Given the description of an element on the screen output the (x, y) to click on. 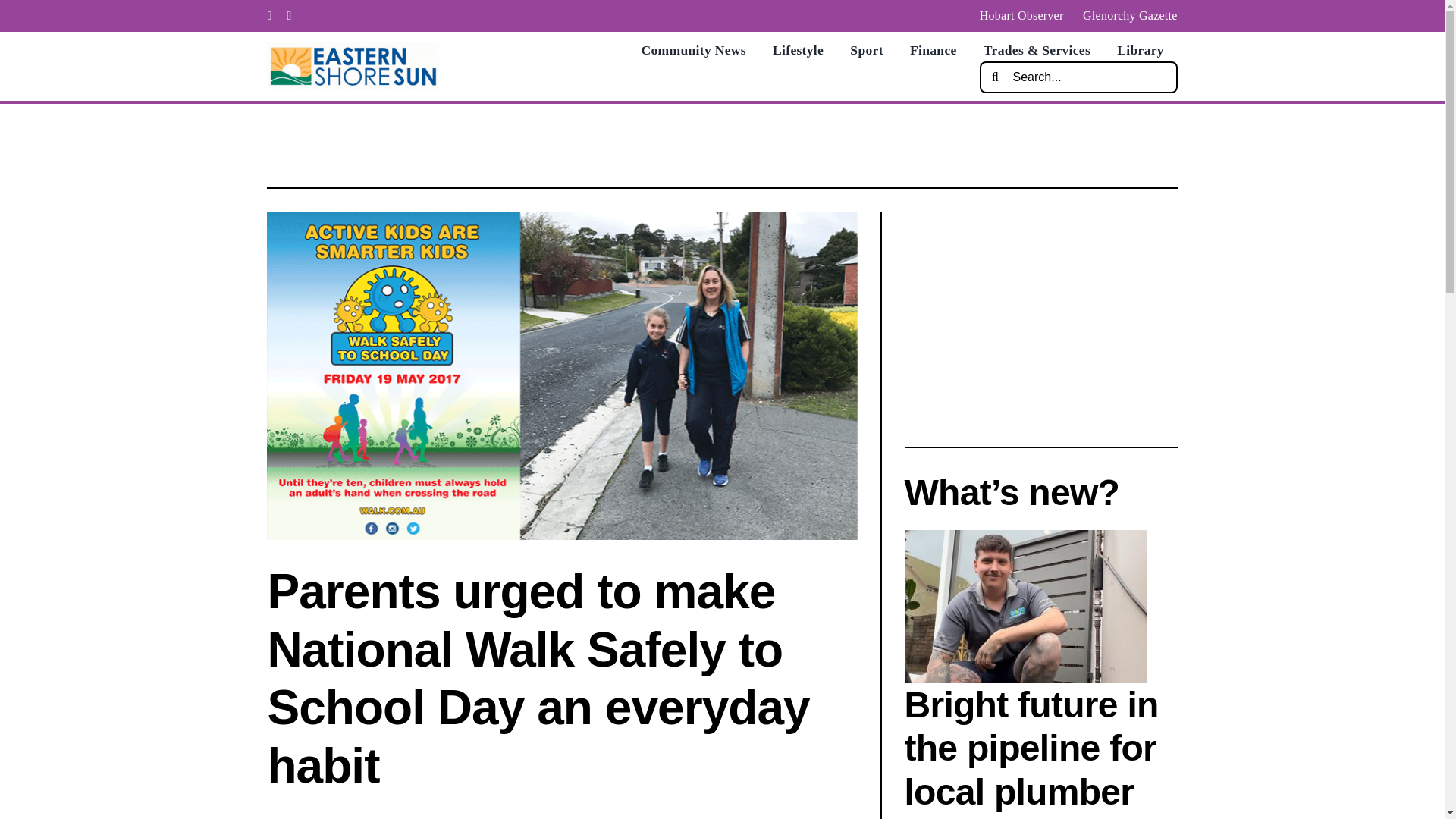
Lifestyle (798, 49)
Advertisement (1040, 317)
Advertisement (721, 145)
Bright future in the pipeline for local plumber (1030, 748)
Library (1139, 49)
Community News (693, 49)
Finance (933, 49)
Sport (866, 49)
